Given the description of an element on the screen output the (x, y) to click on. 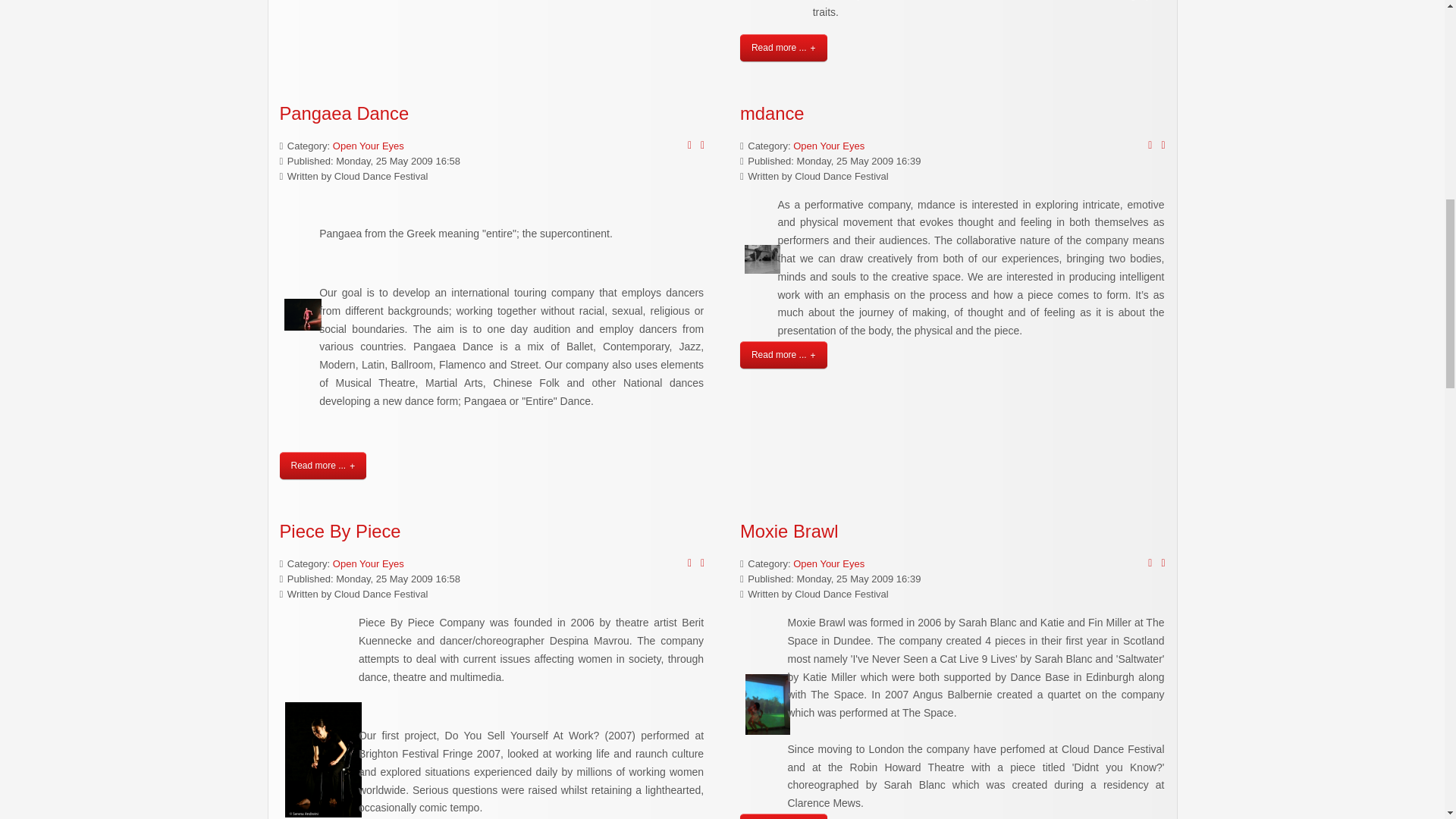
Email this link to a friend (1162, 145)
Email this link to a friend (702, 145)
